Given the description of an element on the screen output the (x, y) to click on. 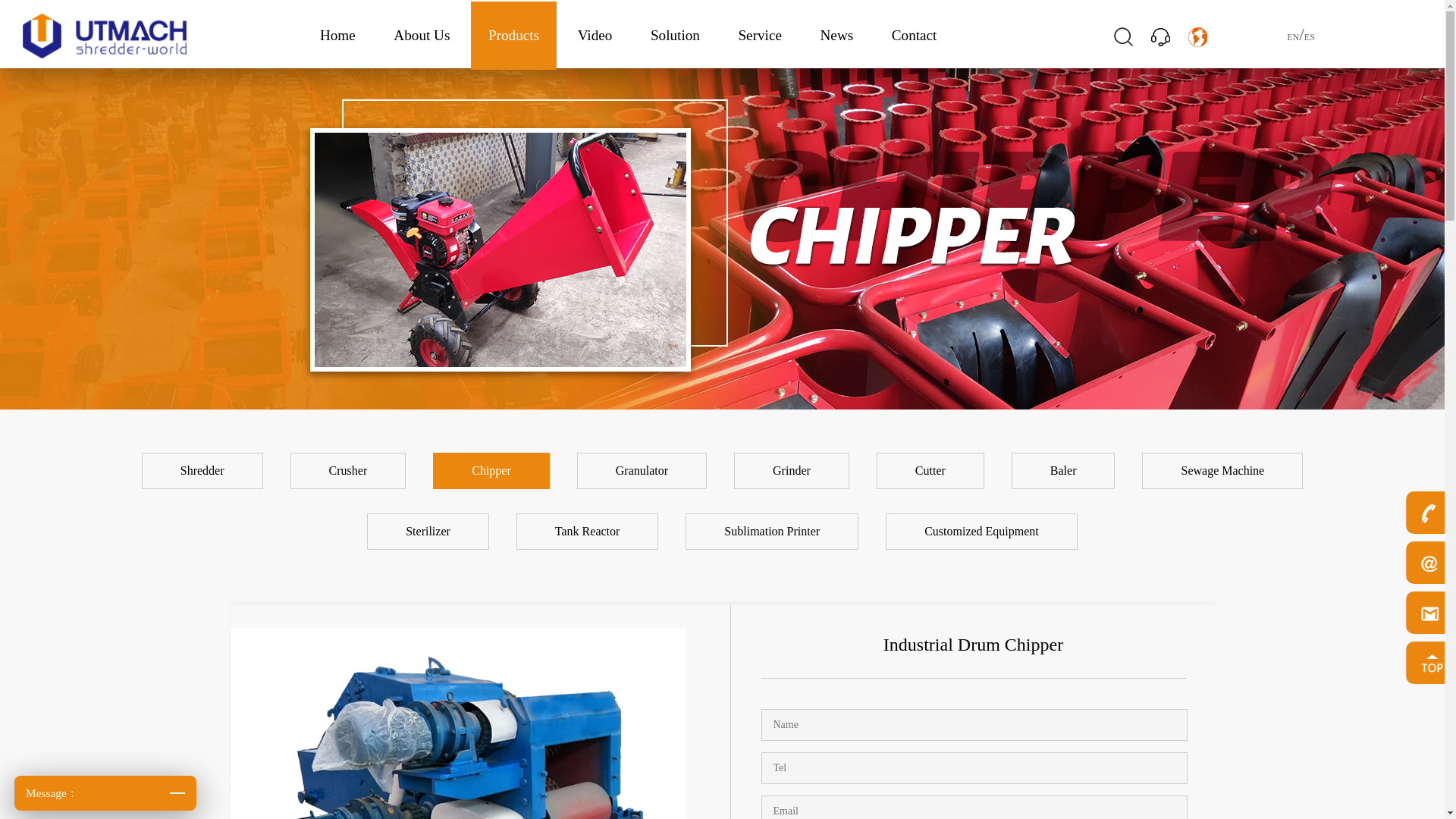
Sewage Machine (1221, 470)
ES (1309, 36)
About Us (421, 35)
Chipper (492, 470)
Contact (914, 35)
Sterilizer (429, 530)
Service (759, 35)
Crusher (350, 470)
Products (512, 35)
Granulator (643, 470)
Grinder (793, 470)
Video (595, 35)
Tank Reactor (588, 530)
Solution (675, 35)
Baler (1064, 470)
